Given the description of an element on the screen output the (x, y) to click on. 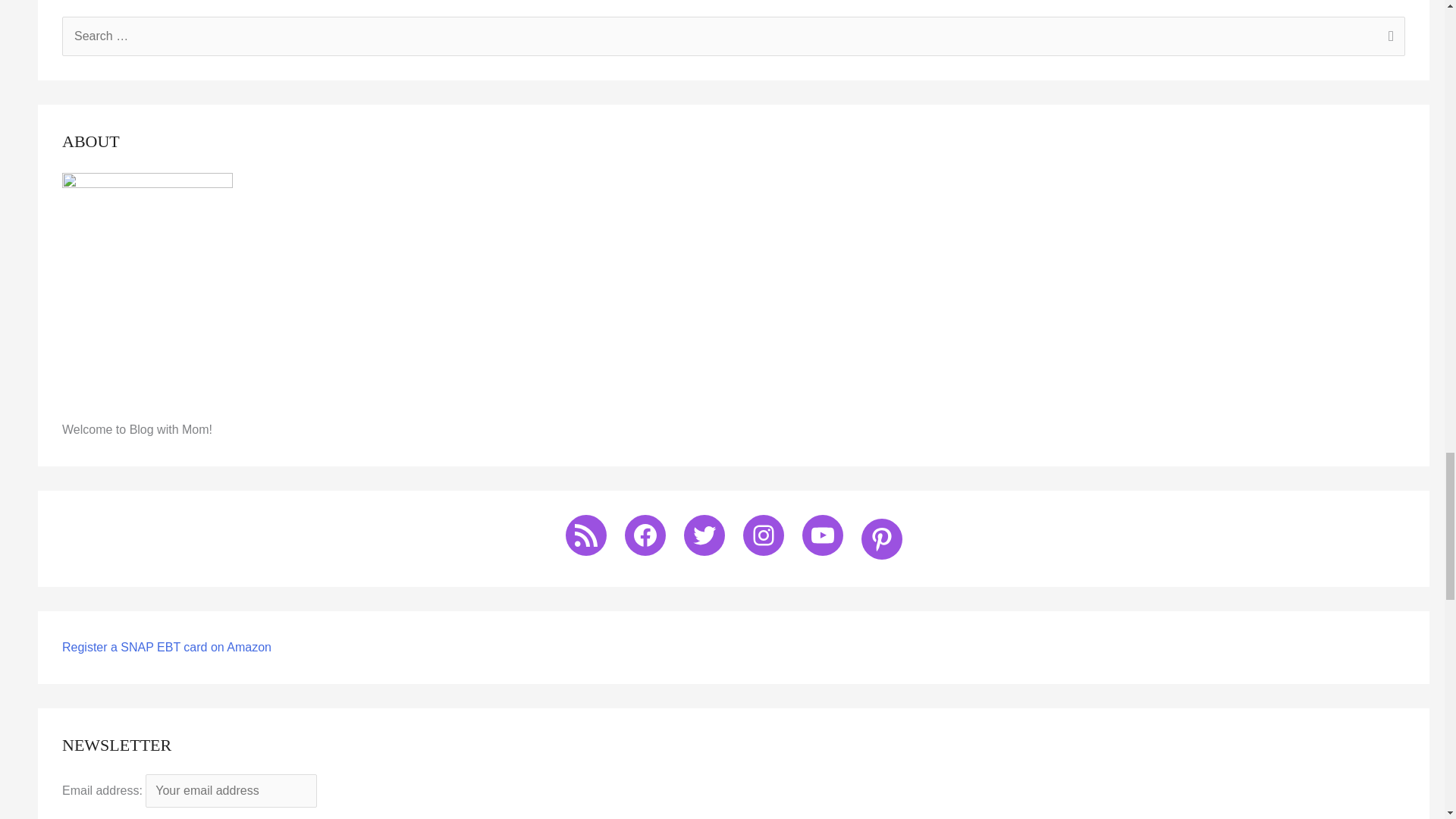
Search (1388, 37)
Search (1388, 37)
